Given the description of an element on the screen output the (x, y) to click on. 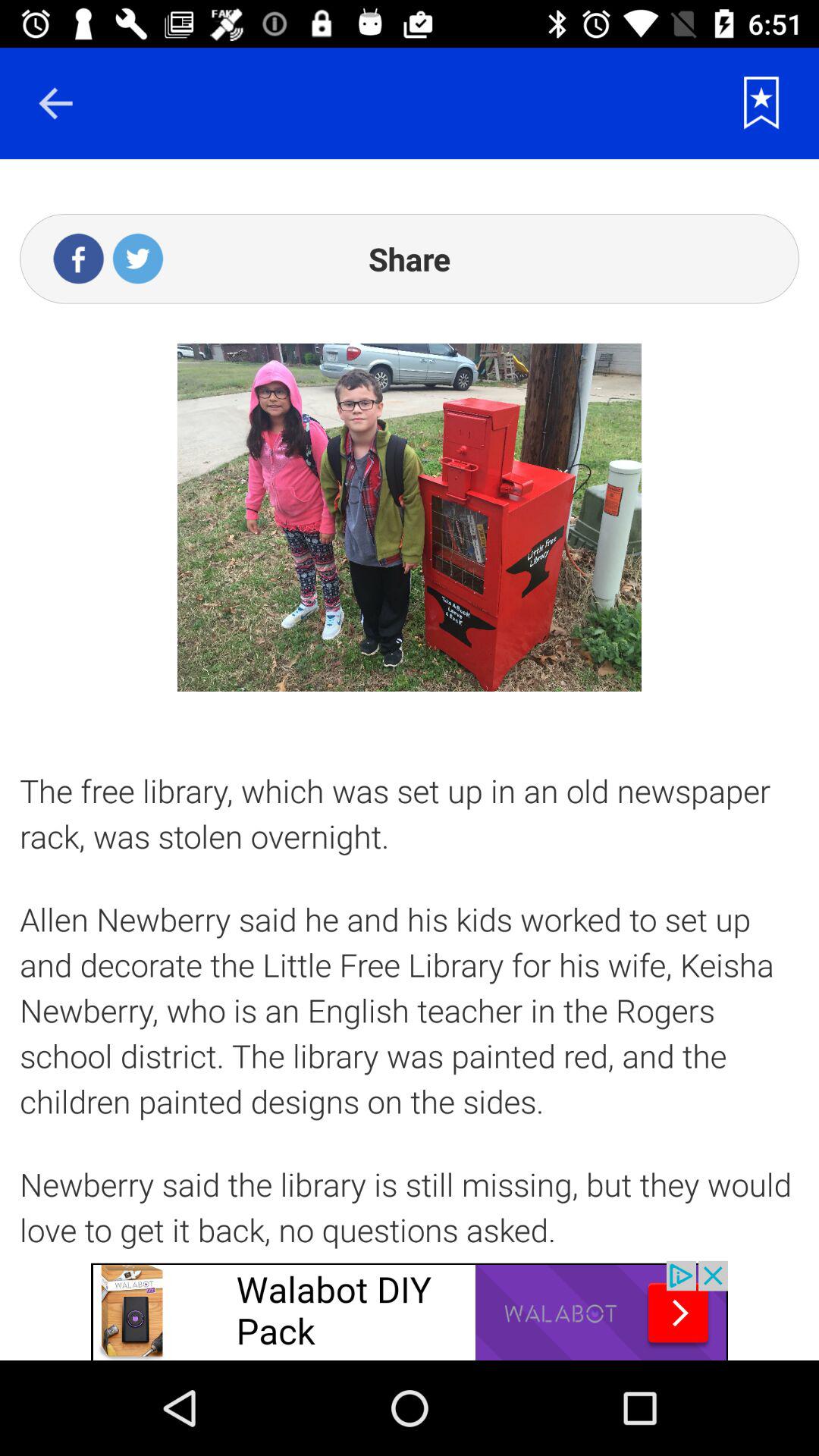
view advertisement (409, 1310)
